Given the description of an element on the screen output the (x, y) to click on. 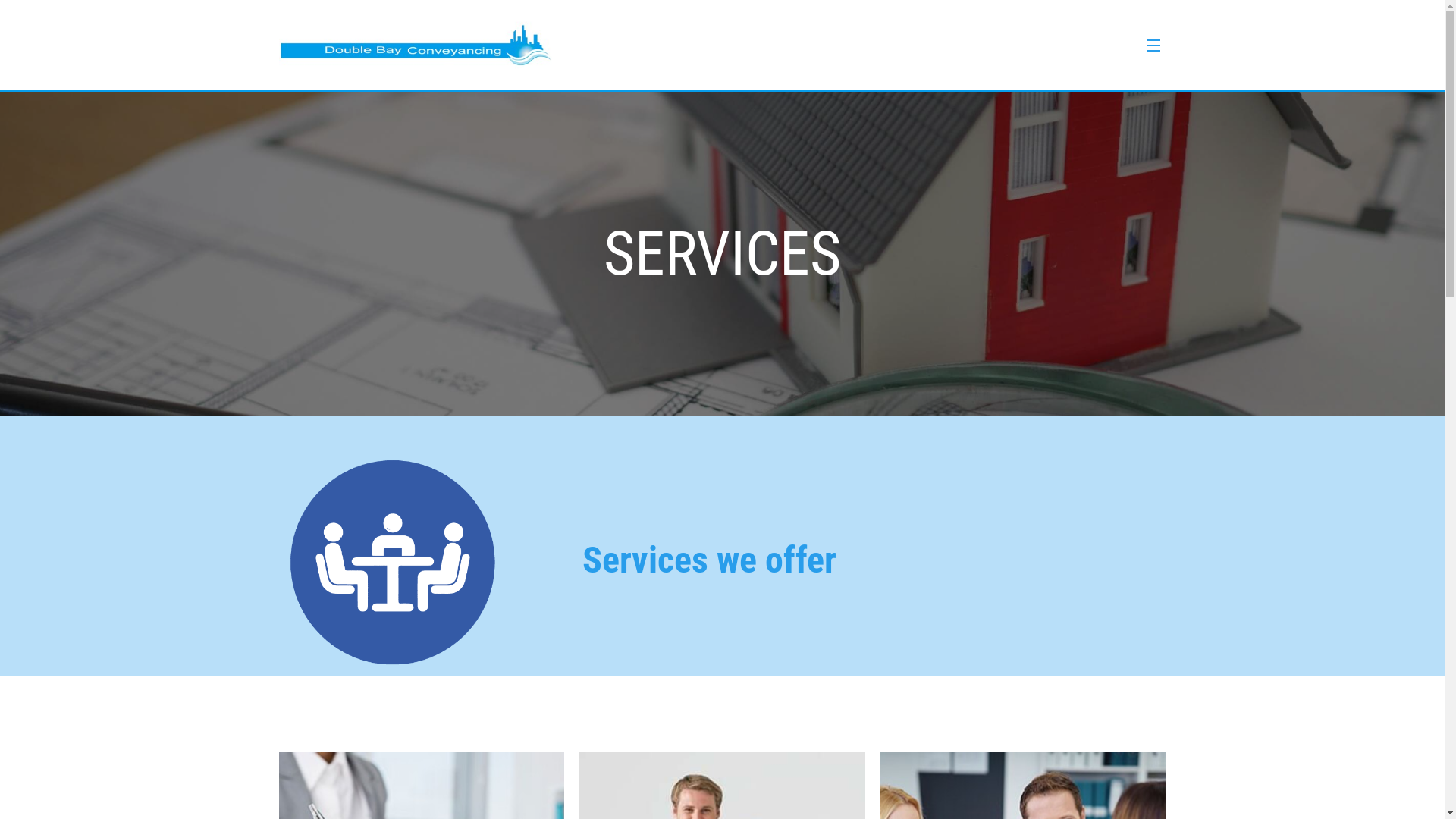
edc488b3-136b-417a-95dd-9d55e03d484b42ba235fb7a5dd66 Element type: hover (419, 562)
